Given the description of an element on the screen output the (x, y) to click on. 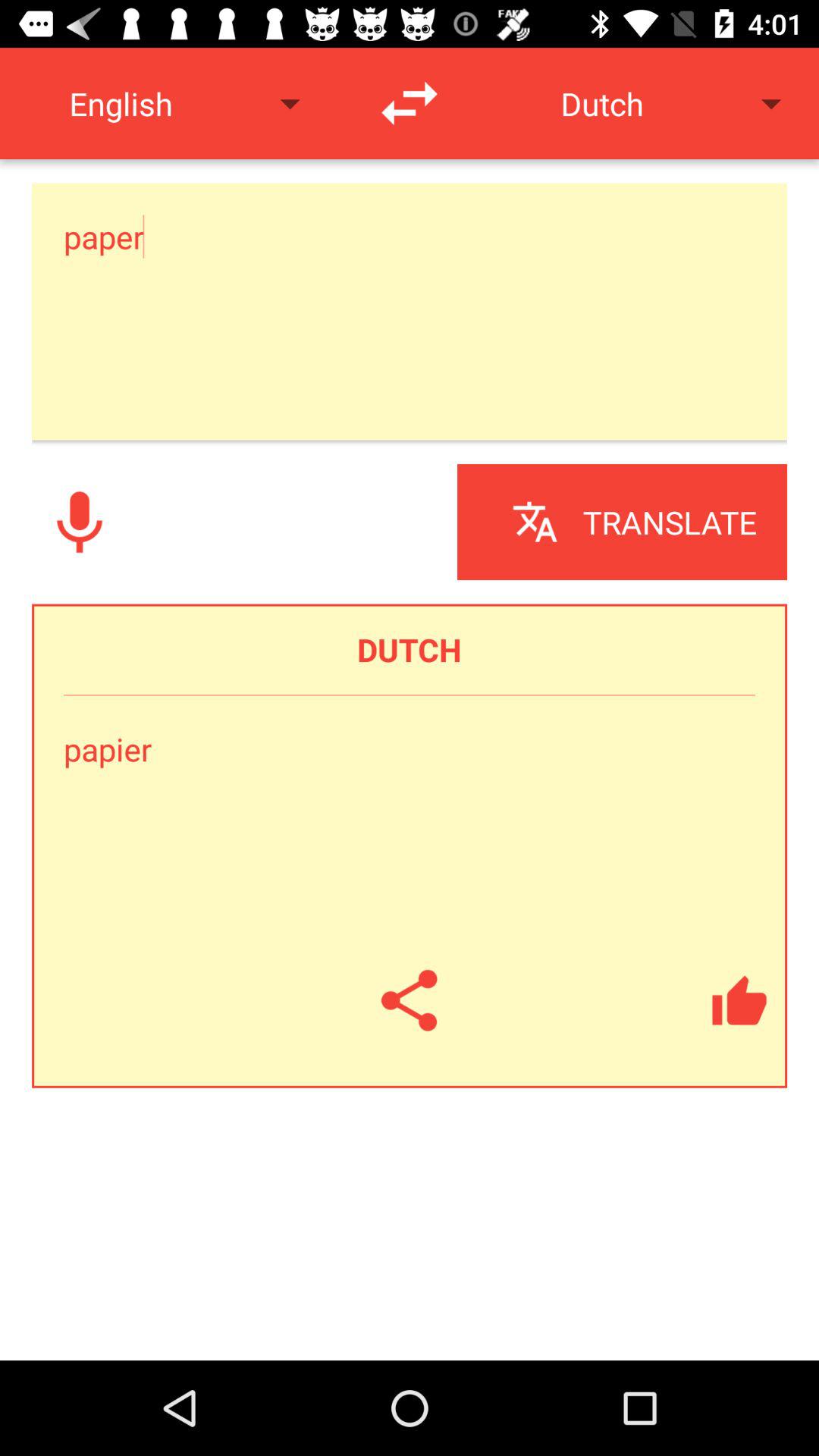
share the translation (409, 1000)
